Given the description of an element on the screen output the (x, y) to click on. 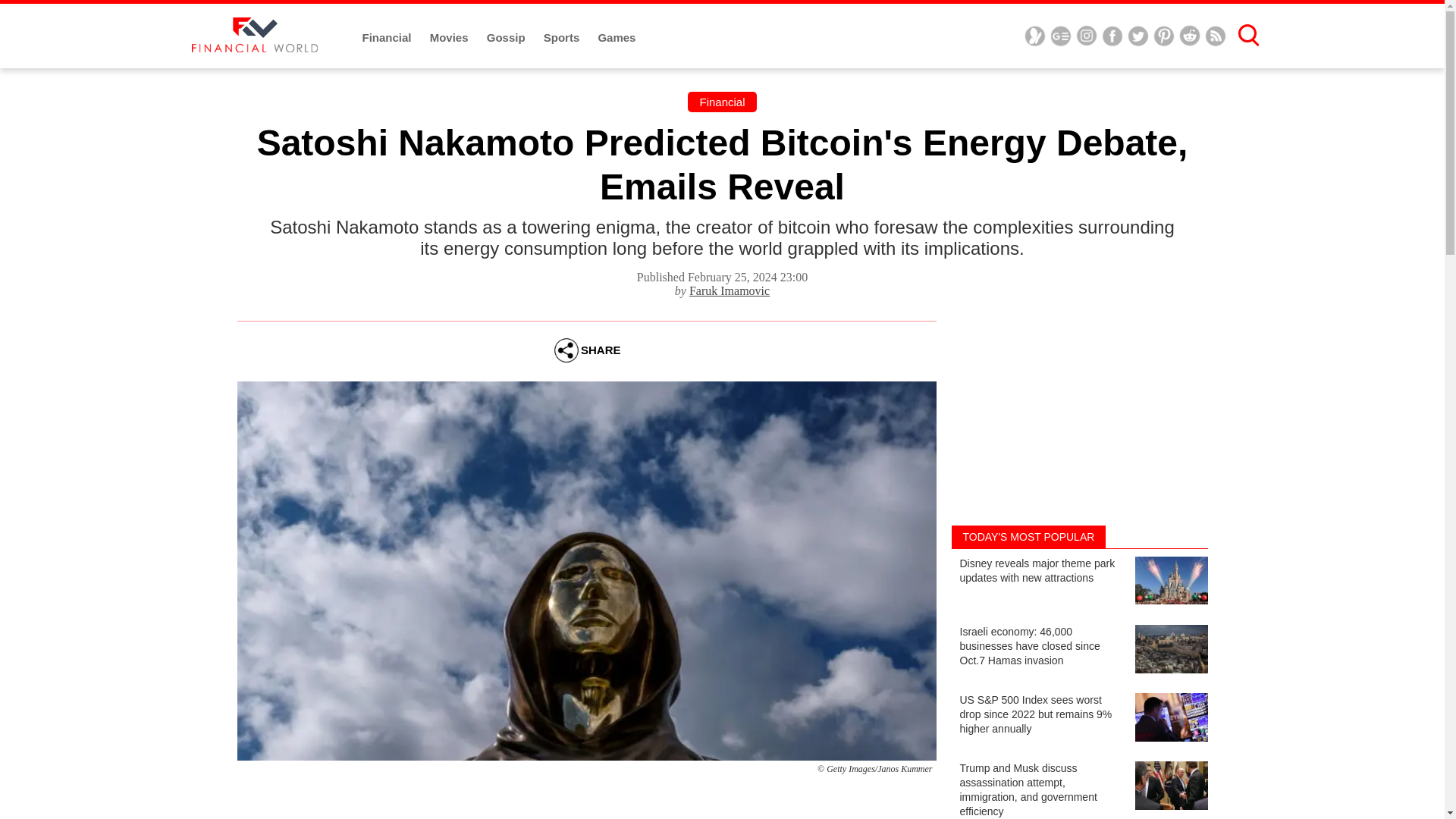
Sports (563, 37)
Gossip (507, 37)
Financial (388, 37)
Financial (721, 101)
Games (615, 37)
Disney reveals major theme park updates with new attractions (1078, 582)
Faruk Imamovic (729, 290)
Movies (450, 37)
